Given the description of an element on the screen output the (x, y) to click on. 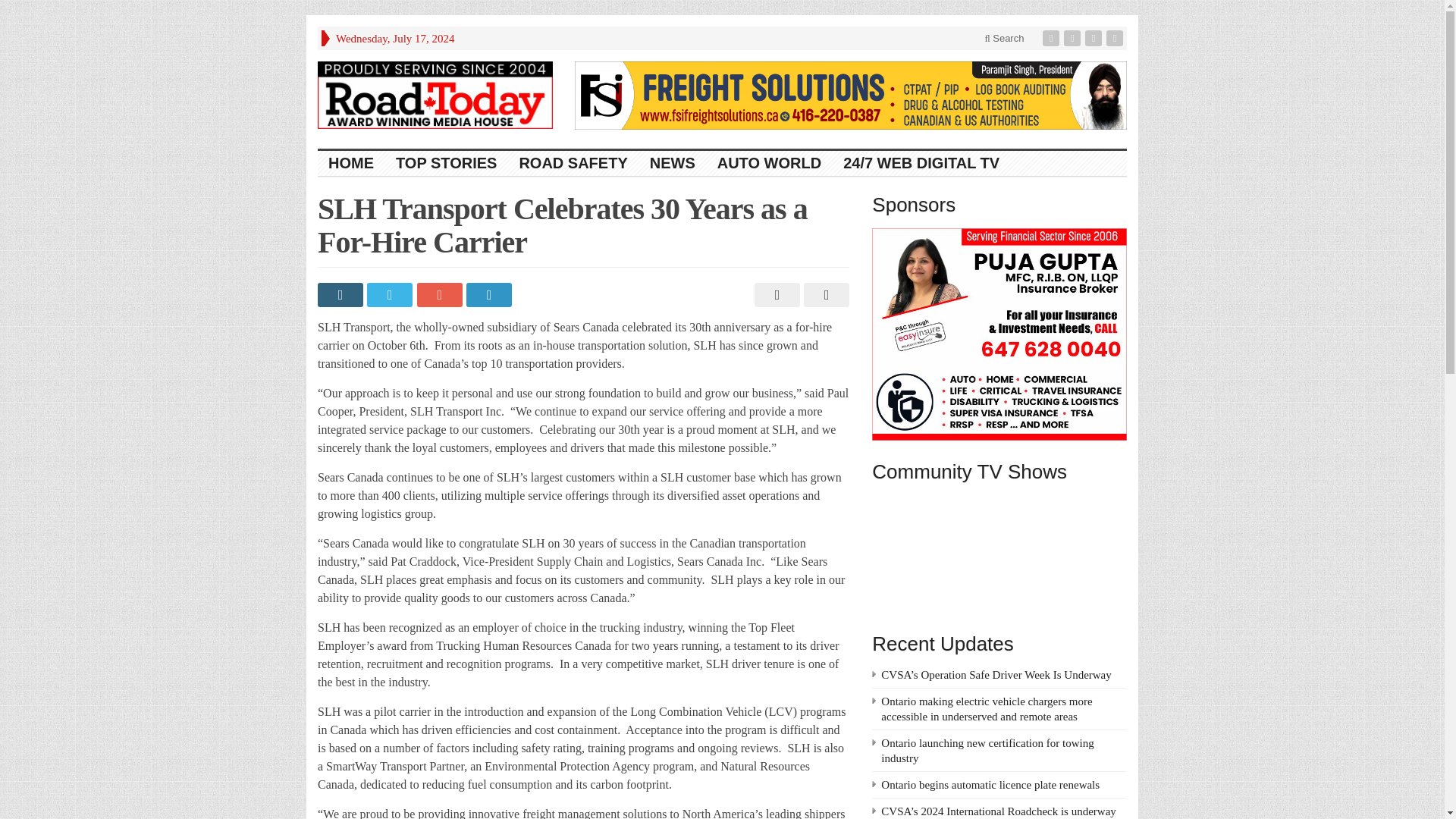
HOME (351, 163)
TOP STORIES (446, 163)
Twitter (1073, 37)
Search (1003, 37)
Facebook (1052, 37)
Site feed (1115, 37)
Award Winning Media House Serving Since 2004 (435, 94)
AUTO WORLD (769, 163)
Youtube (1094, 37)
ROAD SAFETY (573, 163)
NEWS (672, 163)
